Given the description of an element on the screen output the (x, y) to click on. 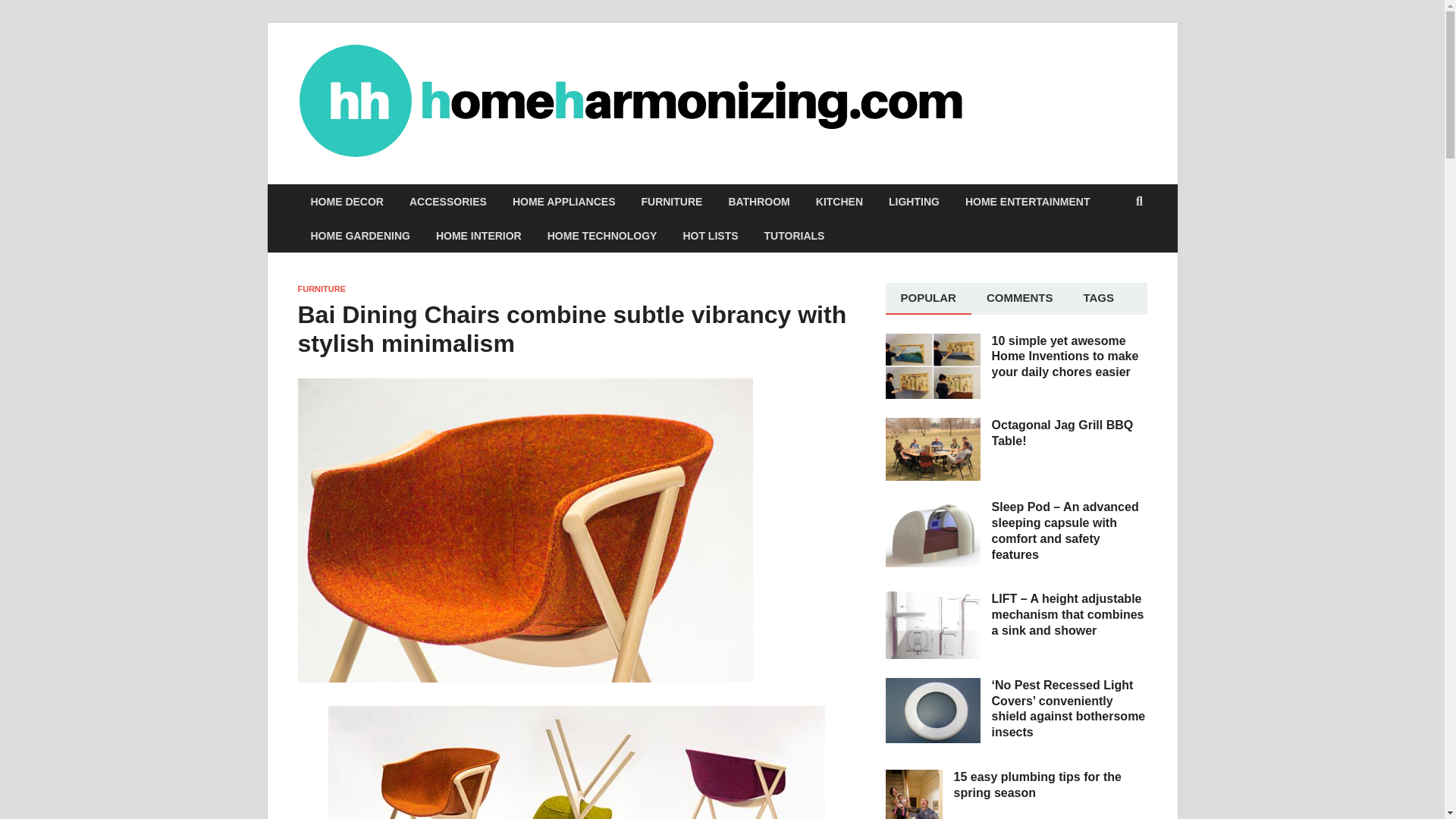
HOME GARDENING (359, 235)
FURNITURE (321, 288)
HOME DECOR (346, 201)
FURNITURE (670, 201)
Home Harmonizing (1076, 91)
15 easy plumbing tips for the spring season (913, 778)
Octagonal Jag Grill BBQ Table! (932, 426)
TUTORIALS (794, 235)
HOME APPLIANCES (563, 201)
HOME TECHNOLOGY (601, 235)
